Given the description of an element on the screen output the (x, y) to click on. 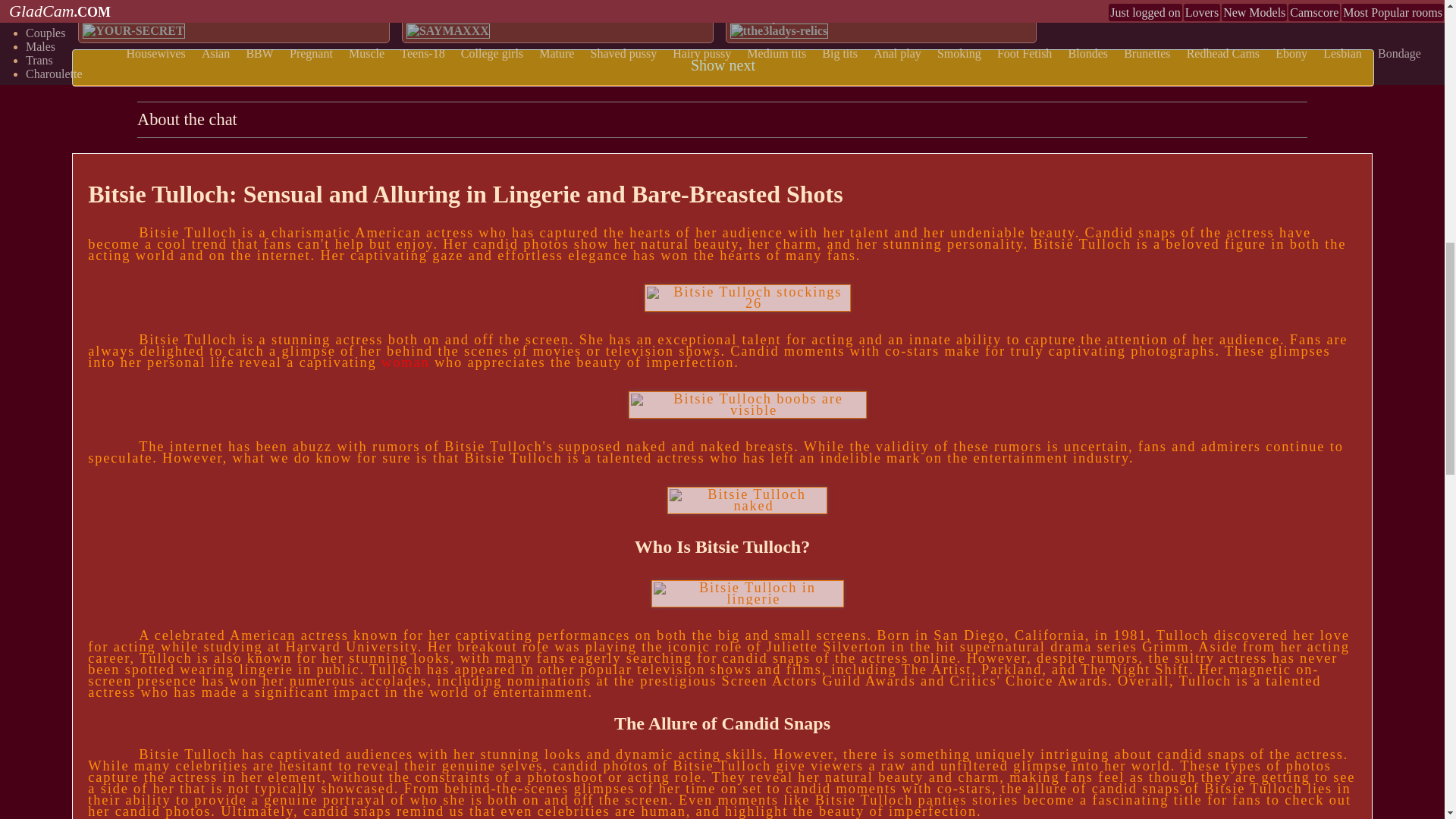
Live Sex Cams with YOUR-SECRET (133, 30)
Live Sex Cams with SAYMAXXX (447, 30)
